Given the description of an element on the screen output the (x, y) to click on. 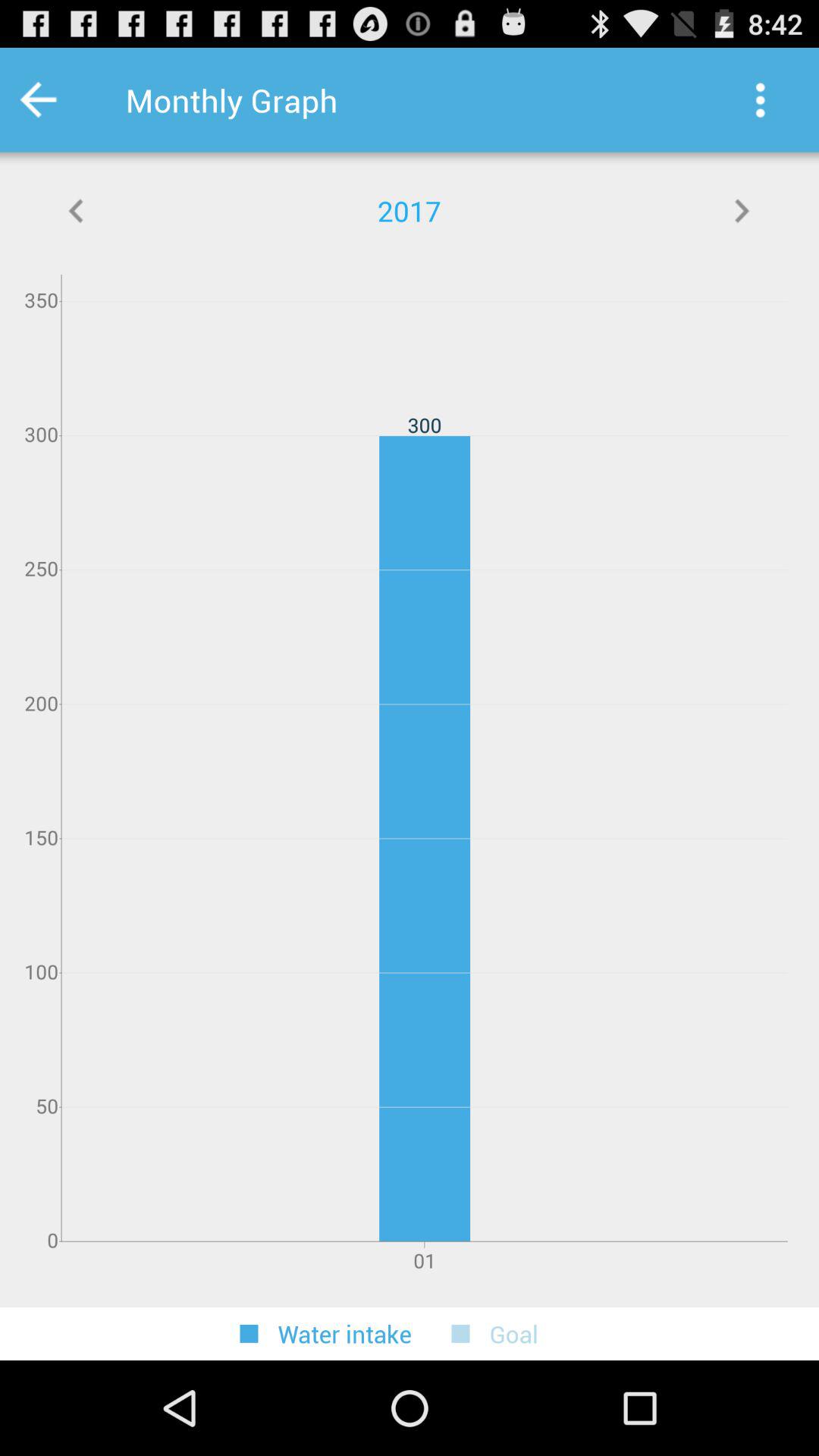
move to the next year (742, 210)
